Given the description of an element on the screen output the (x, y) to click on. 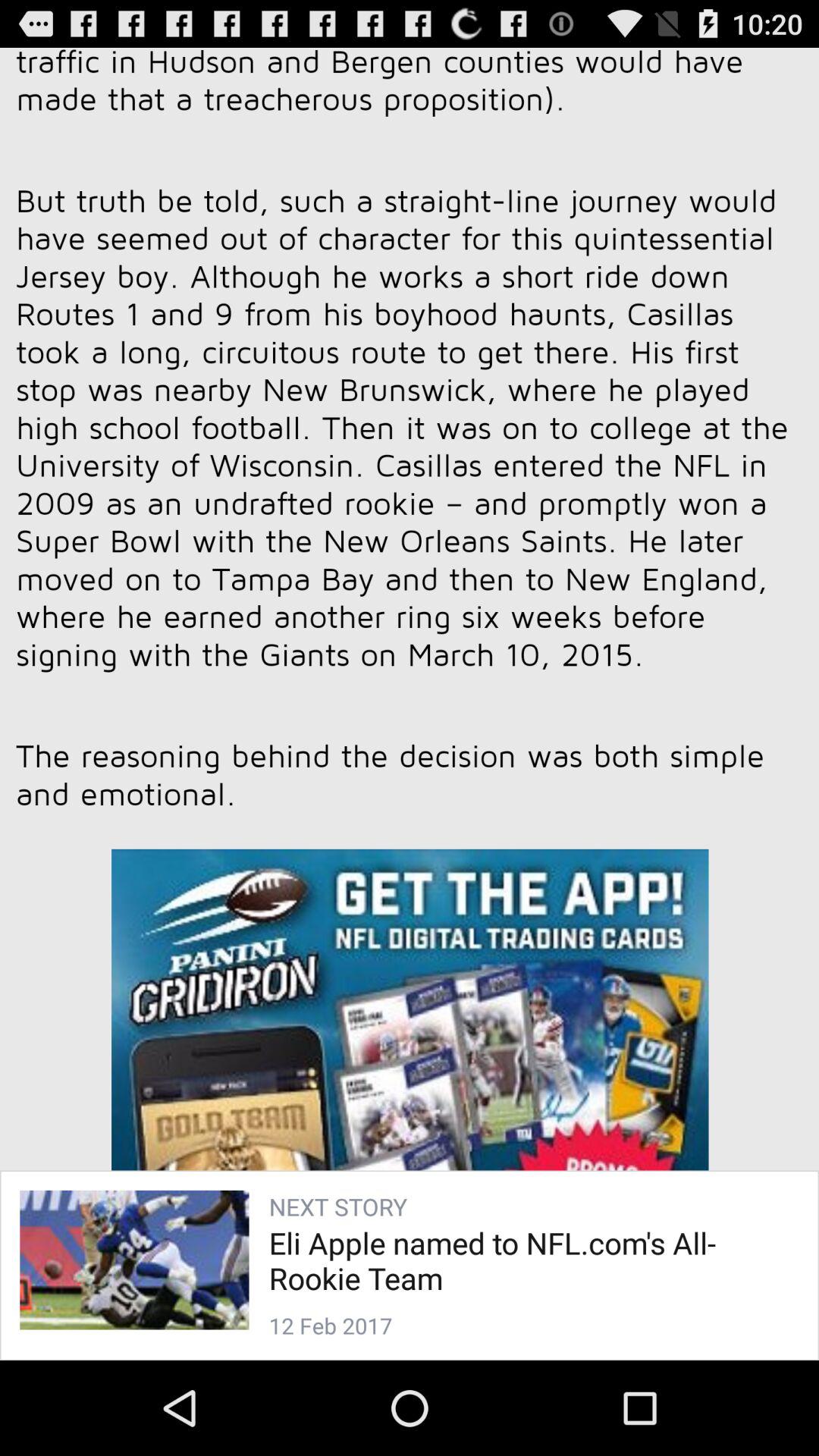
tap icon at the center (409, 683)
